Given the description of an element on the screen output the (x, y) to click on. 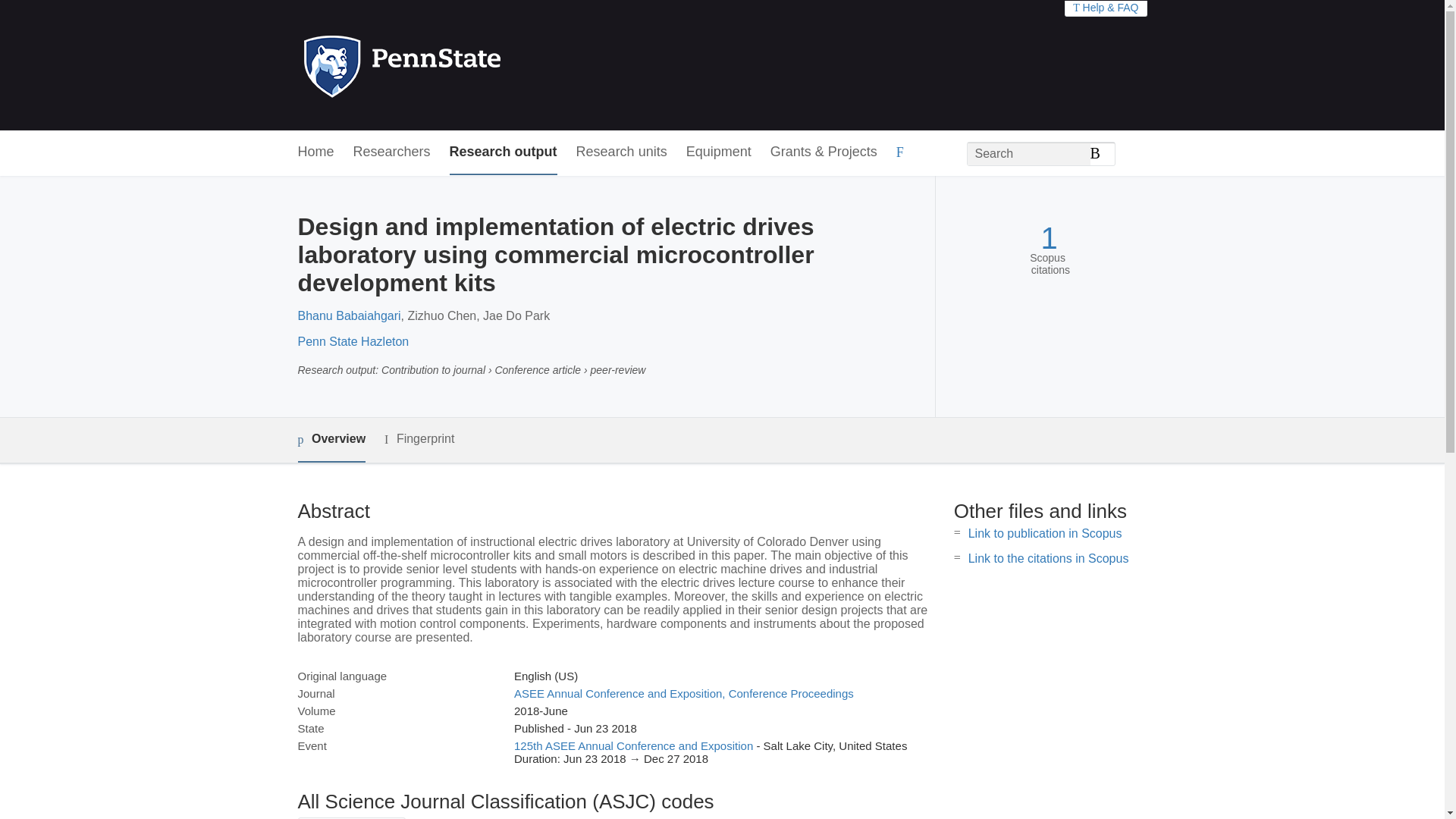
Researchers (391, 152)
Link to publication in Scopus (1045, 533)
Penn State Hazleton (353, 341)
Link to the citations in Scopus (1048, 558)
Overview (331, 439)
Equipment (718, 152)
Penn State Home (467, 65)
Research units (621, 152)
Fingerprint (419, 439)
Bhanu Babaiahgari (348, 315)
Research output (503, 152)
125th ASEE Annual Conference and Exposition (632, 745)
